Given the description of an element on the screen output the (x, y) to click on. 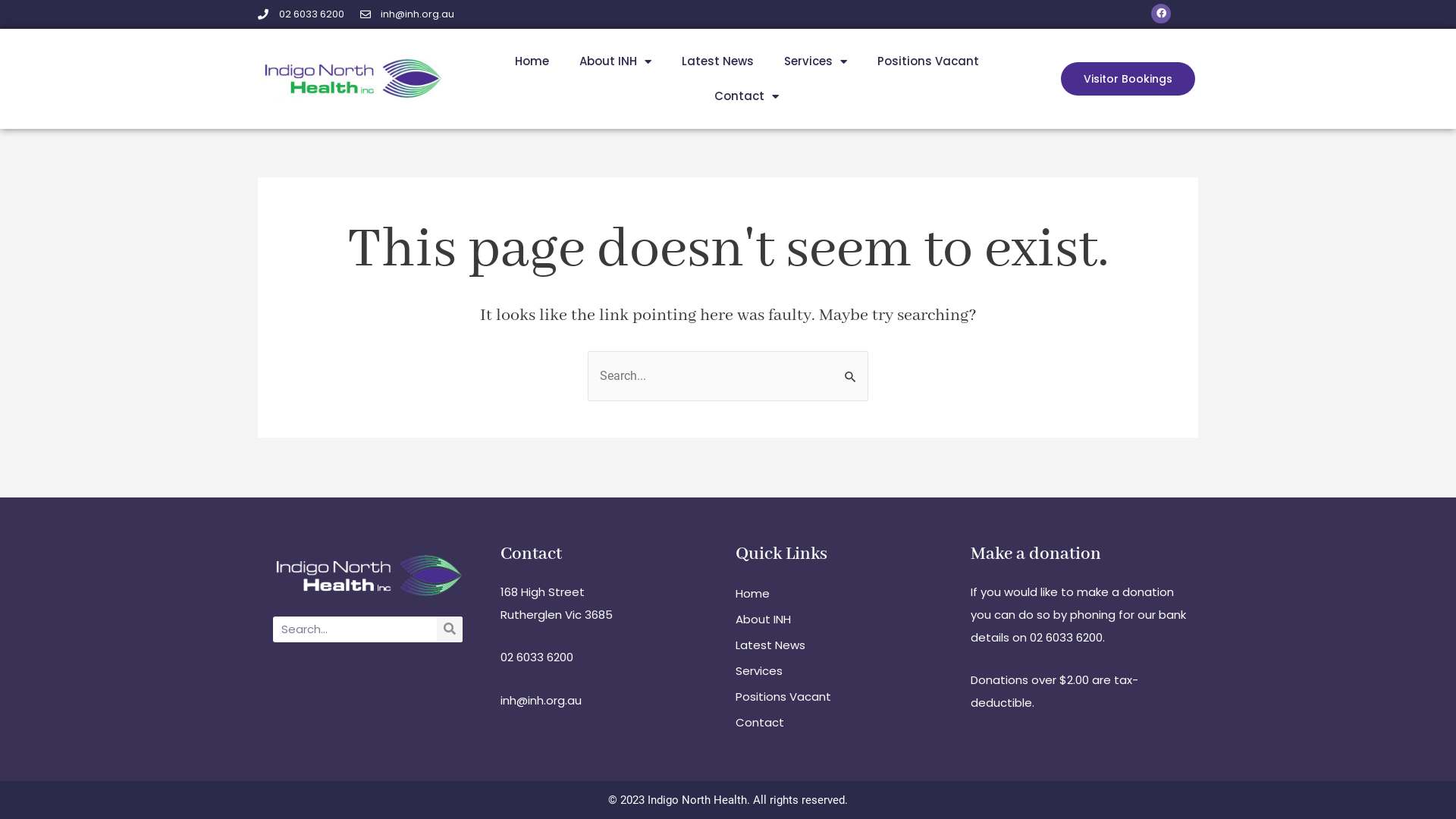
Positions Vacant Element type: text (845, 696)
Contact Element type: text (746, 95)
Visitor Bookings Element type: text (1127, 78)
Search Element type: text (449, 629)
inh@inh.org.au Element type: text (406, 14)
Latest News Element type: text (845, 645)
Home Element type: text (531, 60)
02 6033 6200 Element type: text (536, 657)
Search Element type: text (851, 366)
Services Element type: text (815, 60)
Services Element type: text (845, 671)
Contact Element type: text (845, 722)
Facebook Element type: text (1160, 12)
Latest News Element type: text (717, 60)
Home Element type: text (845, 593)
inh@inh.org.au Element type: text (540, 699)
About INH Element type: text (615, 60)
About INH Element type: text (845, 619)
Positions Vacant Element type: text (928, 60)
